Given the description of an element on the screen output the (x, y) to click on. 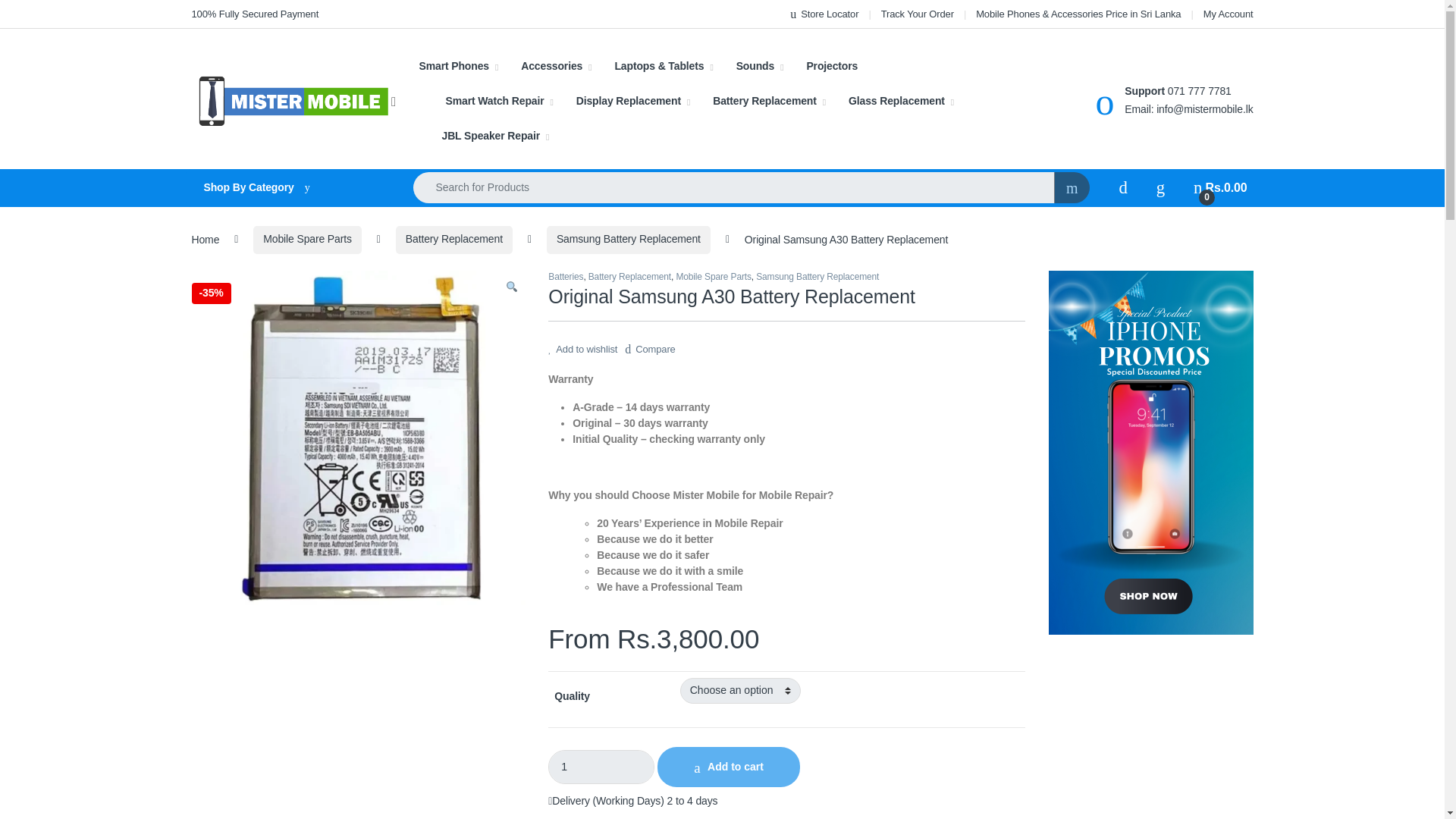
Store Locator (824, 13)
Store Locator (824, 13)
Track Your Order (916, 13)
My Account (1228, 13)
Track Your Order (916, 13)
1 (600, 766)
My Account (1228, 13)
